Given the description of an element on the screen output the (x, y) to click on. 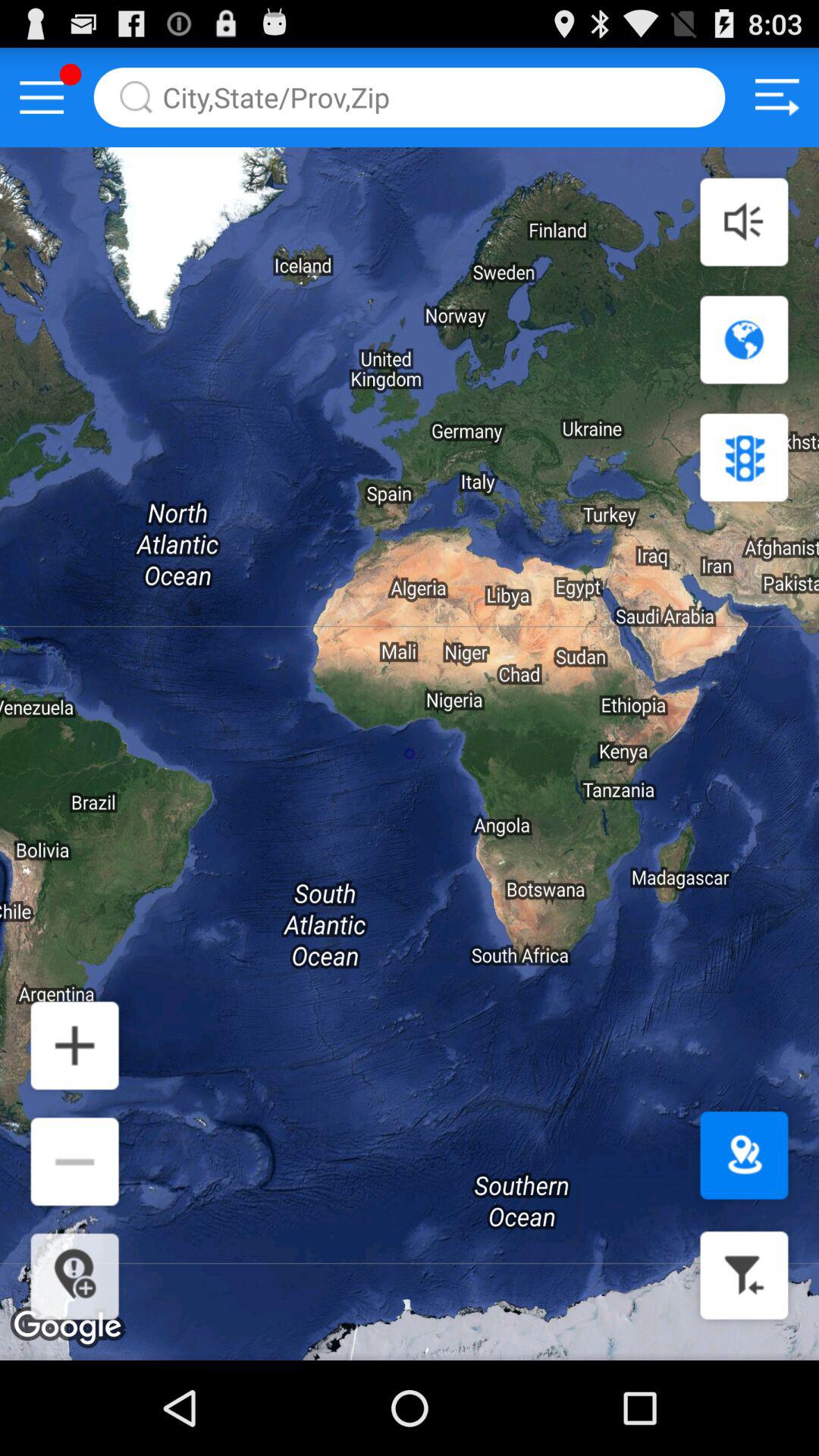
open menu (41, 97)
